Given the description of an element on the screen output the (x, y) to click on. 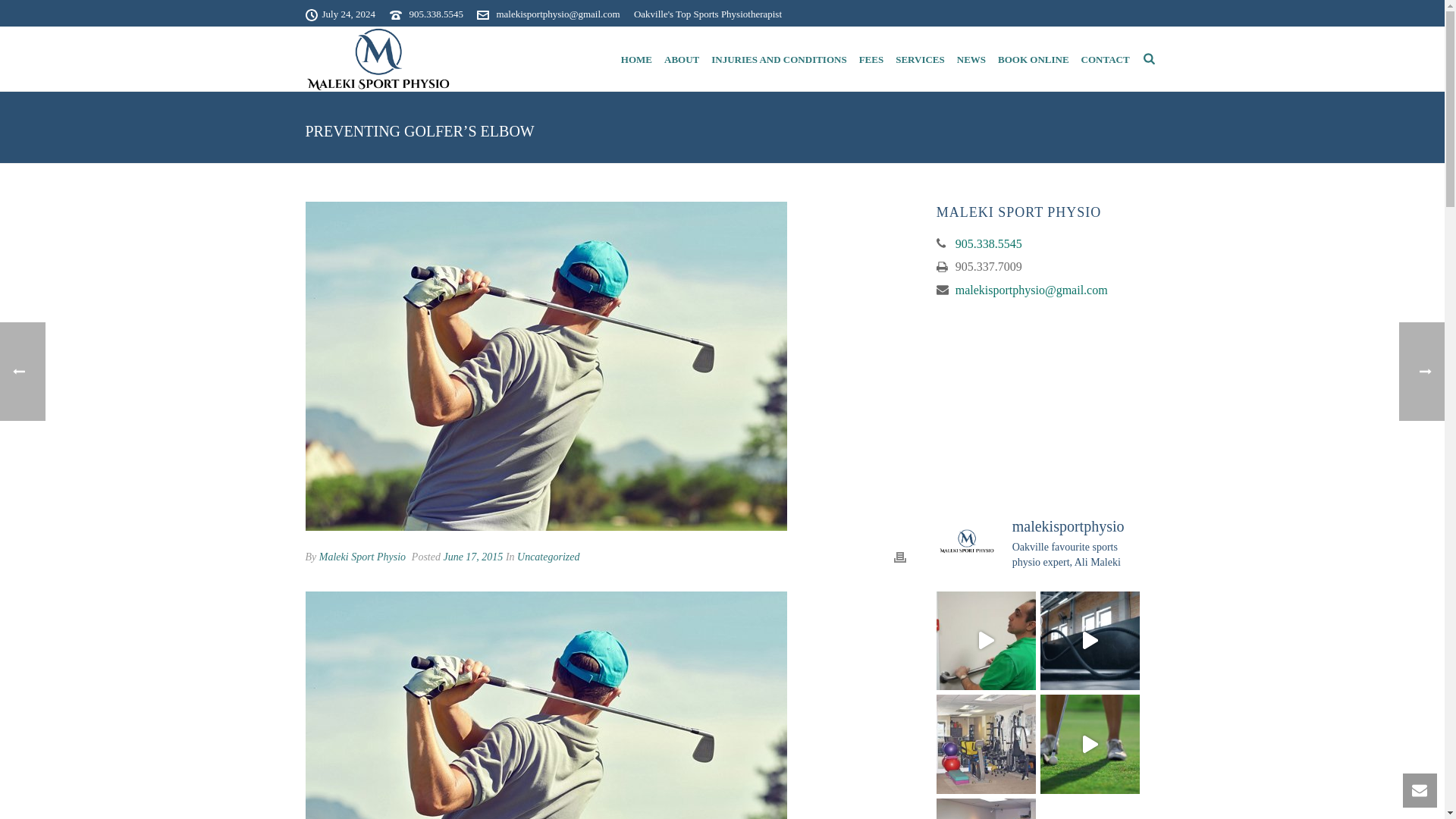
June 17, 2015 (472, 556)
Maleki Sport Physio (362, 556)
HOME (636, 59)
ABOUT (681, 59)
INJURIES AND CONDITIONS (777, 59)
CONTACT (1105, 59)
Maleki Sport Physio (376, 58)
INJURIES AND CONDITIONS (777, 59)
SERVICES (919, 59)
Print (899, 557)
FEES (871, 59)
NEWS (970, 59)
NEWS (970, 59)
905.338.5545 (436, 13)
SERVICES (919, 59)
